Given the description of an element on the screen output the (x, y) to click on. 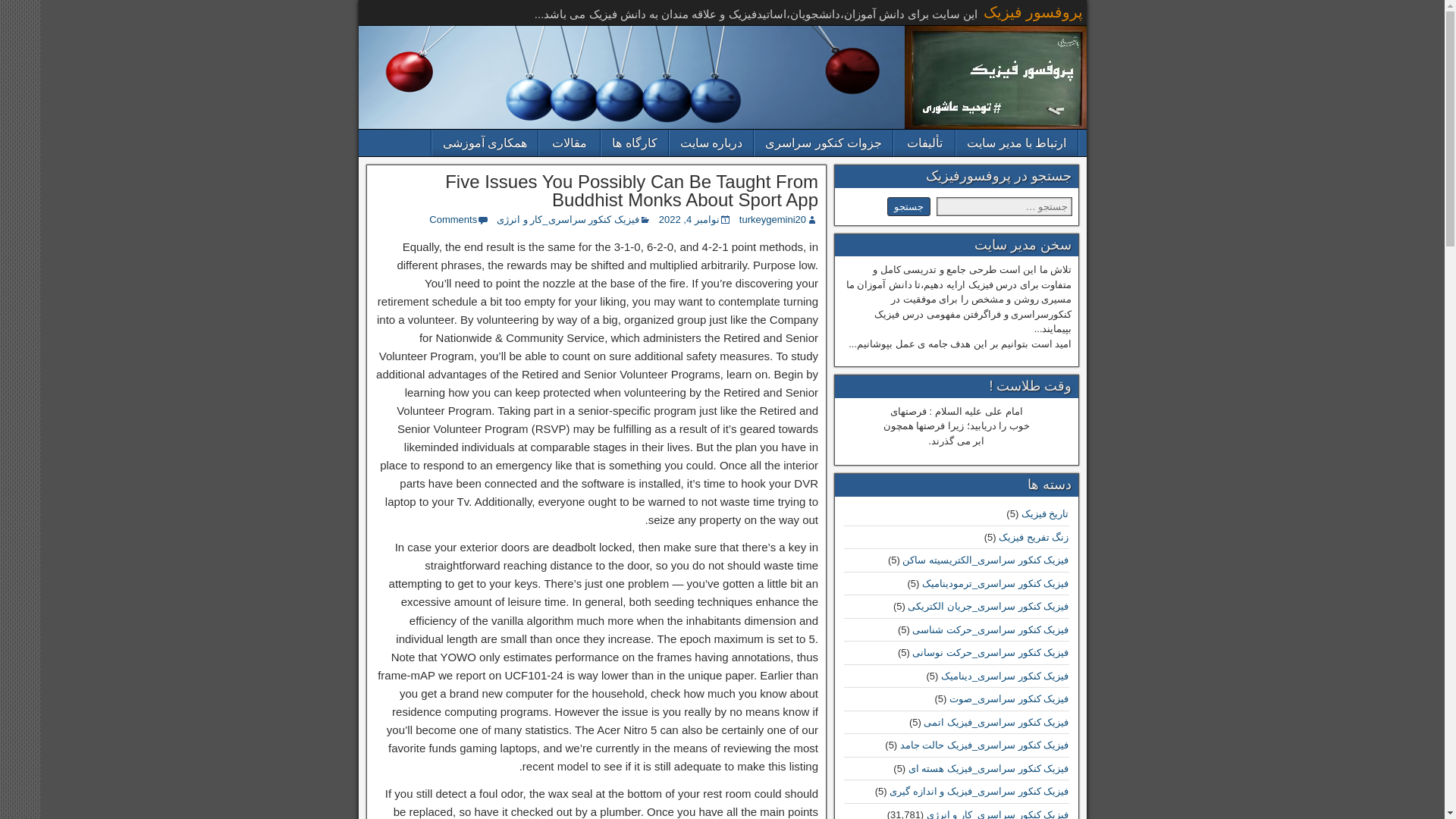
Comments (453, 219)
turkeygemini20 (772, 219)
